Given the description of an element on the screen output the (x, y) to click on. 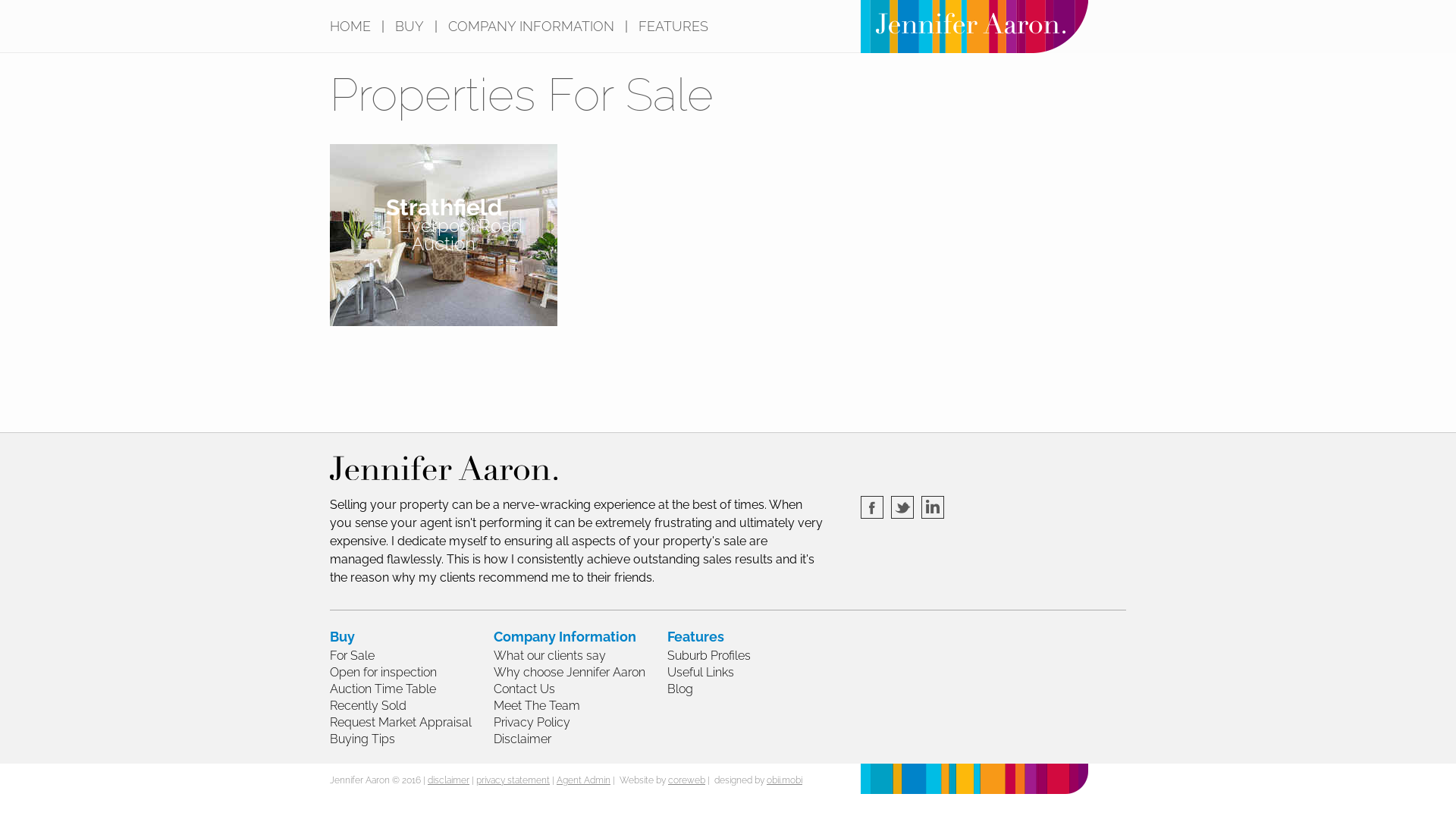
HOME Element type: text (349, 26)
Contact Us Element type: text (580, 689)
Meet The Team Element type: text (580, 706)
Suburb Profiles Element type: text (719, 656)
BUY Element type: text (409, 26)
Disclaimer Element type: text (580, 739)
COMPANY INFORMATION Element type: text (531, 26)
Agent Admin Element type: text (583, 780)
Why choose Jennifer Aaron Element type: text (580, 673)
Blog Element type: text (719, 689)
FEATURES Element type: text (673, 26)
Strathfield Element type: text (443, 207)
Request Market Appraisal Element type: text (411, 723)
Buy Element type: text (411, 636)
For Sale Element type: text (411, 656)
Company Information Element type: text (580, 636)
coreweb Element type: text (686, 780)
obii.mobi Element type: text (784, 780)
Auction Time Table Element type: text (411, 689)
Useful Links Element type: text (719, 673)
Buying Tips Element type: text (411, 739)
disclaimer Element type: text (448, 780)
privacy statement Element type: text (512, 780)
Privacy Policy Element type: text (580, 723)
What our clients say Element type: text (580, 656)
Open for inspection Element type: text (411, 673)
Recently Sold Element type: text (411, 706)
Features Element type: text (719, 636)
